Given the description of an element on the screen output the (x, y) to click on. 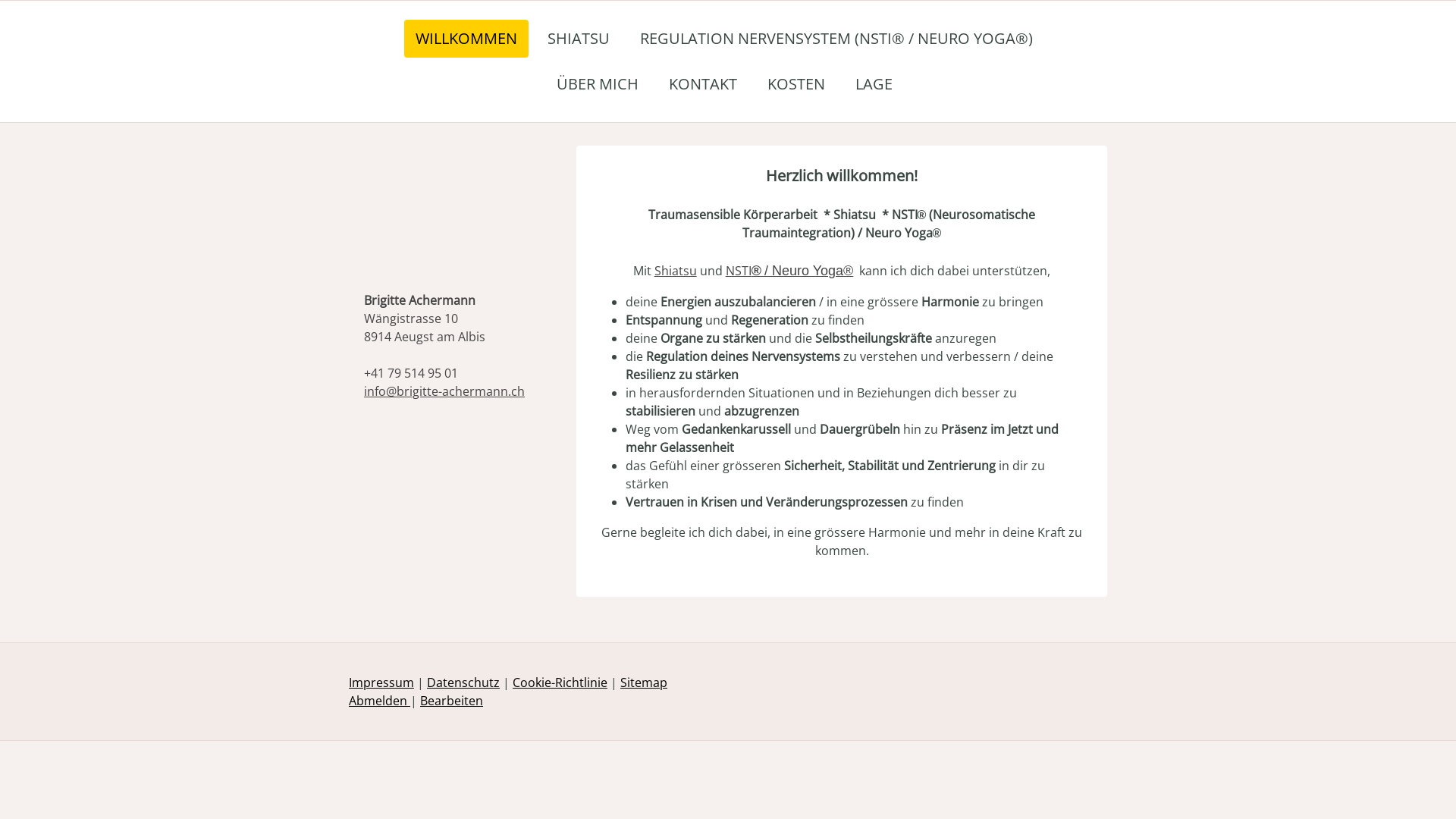
KONTAKT Element type: text (701, 84)
info@brigitte-achermann.ch Element type: text (444, 390)
Datenschutz Element type: text (462, 682)
WILLKOMMEN Element type: text (466, 38)
Cookie-Richtlinie Element type: text (559, 682)
Sitemap Element type: text (643, 682)
Bearbeiten Element type: text (451, 700)
Impressum Element type: text (381, 682)
Shiatsu Element type: text (675, 270)
LAGE Element type: text (873, 84)
KOSTEN Element type: text (795, 84)
Abmelden Element type: text (379, 700)
SHIATSU Element type: text (578, 38)
